Given the description of an element on the screen output the (x, y) to click on. 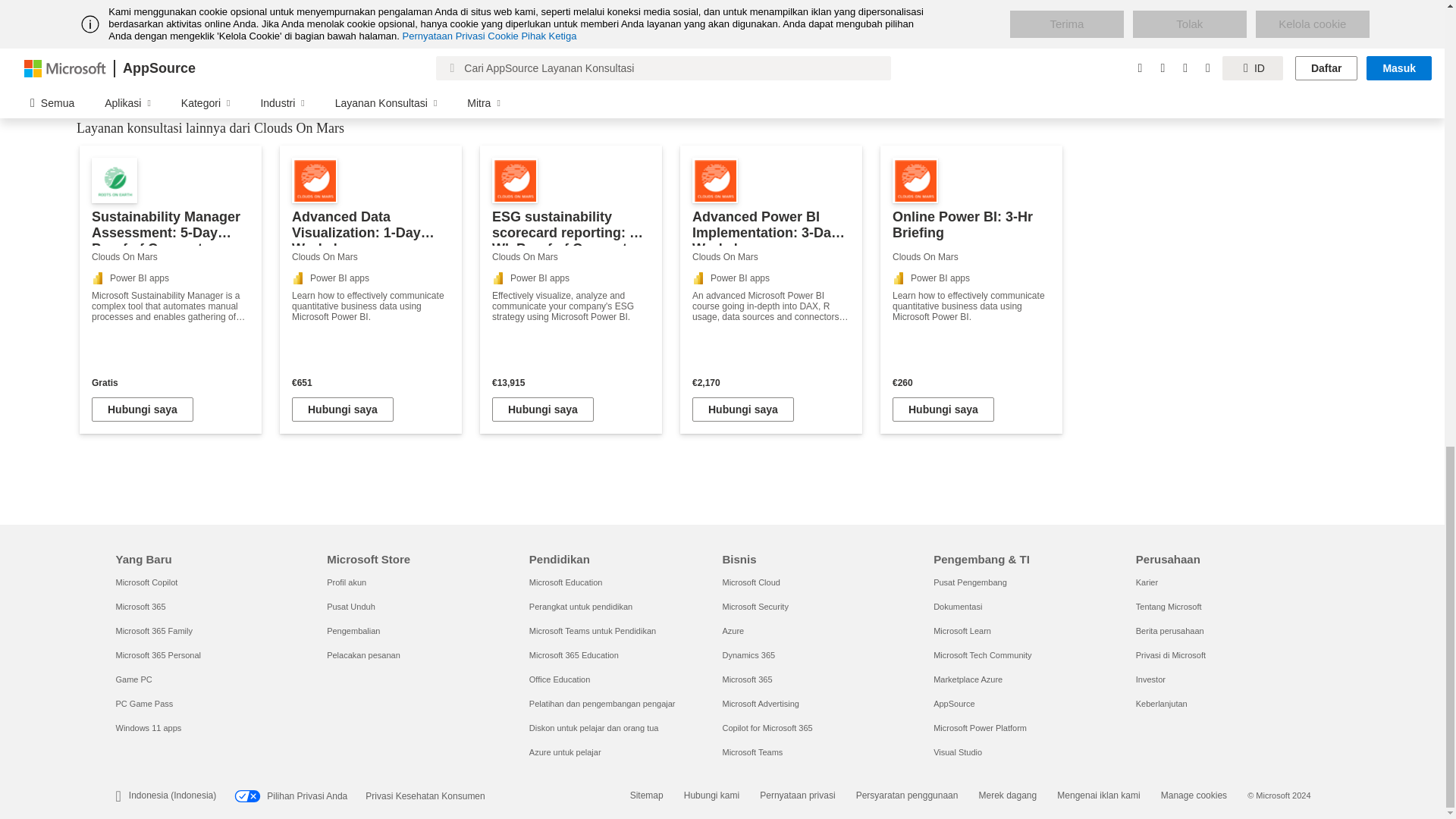
Hubungi saya (743, 409)
Microsoft 365 Family (153, 630)
Hubungi saya (943, 409)
Microsoft Copilot (146, 582)
Hubungi saya (342, 409)
Gratis (169, 382)
Microsoft 365 (140, 605)
Hubungi saya (543, 409)
Hubungi saya (142, 409)
